Given the description of an element on the screen output the (x, y) to click on. 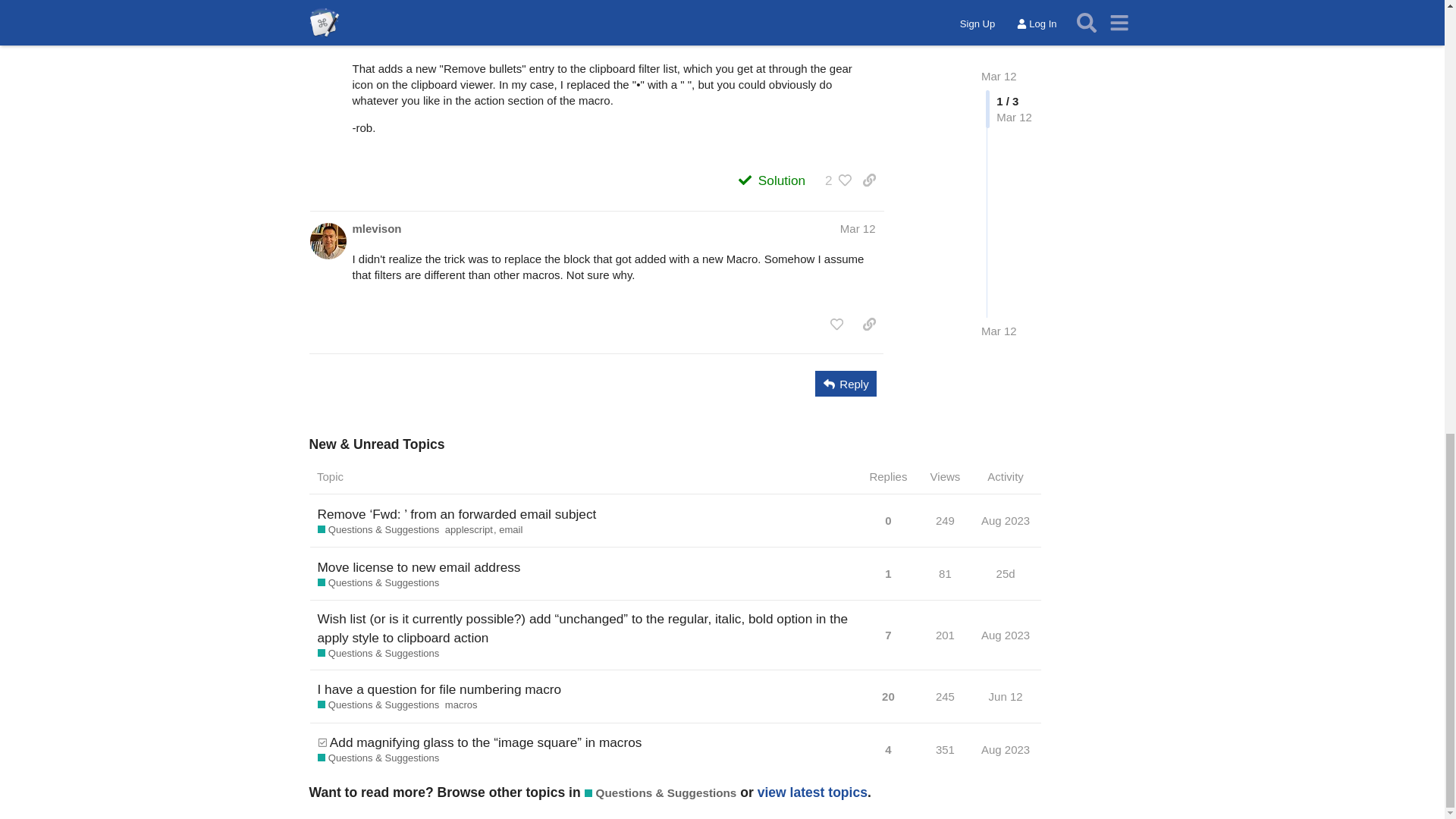
2 (833, 180)
mlevison (376, 228)
Mar 12 (858, 228)
